Given the description of an element on the screen output the (x, y) to click on. 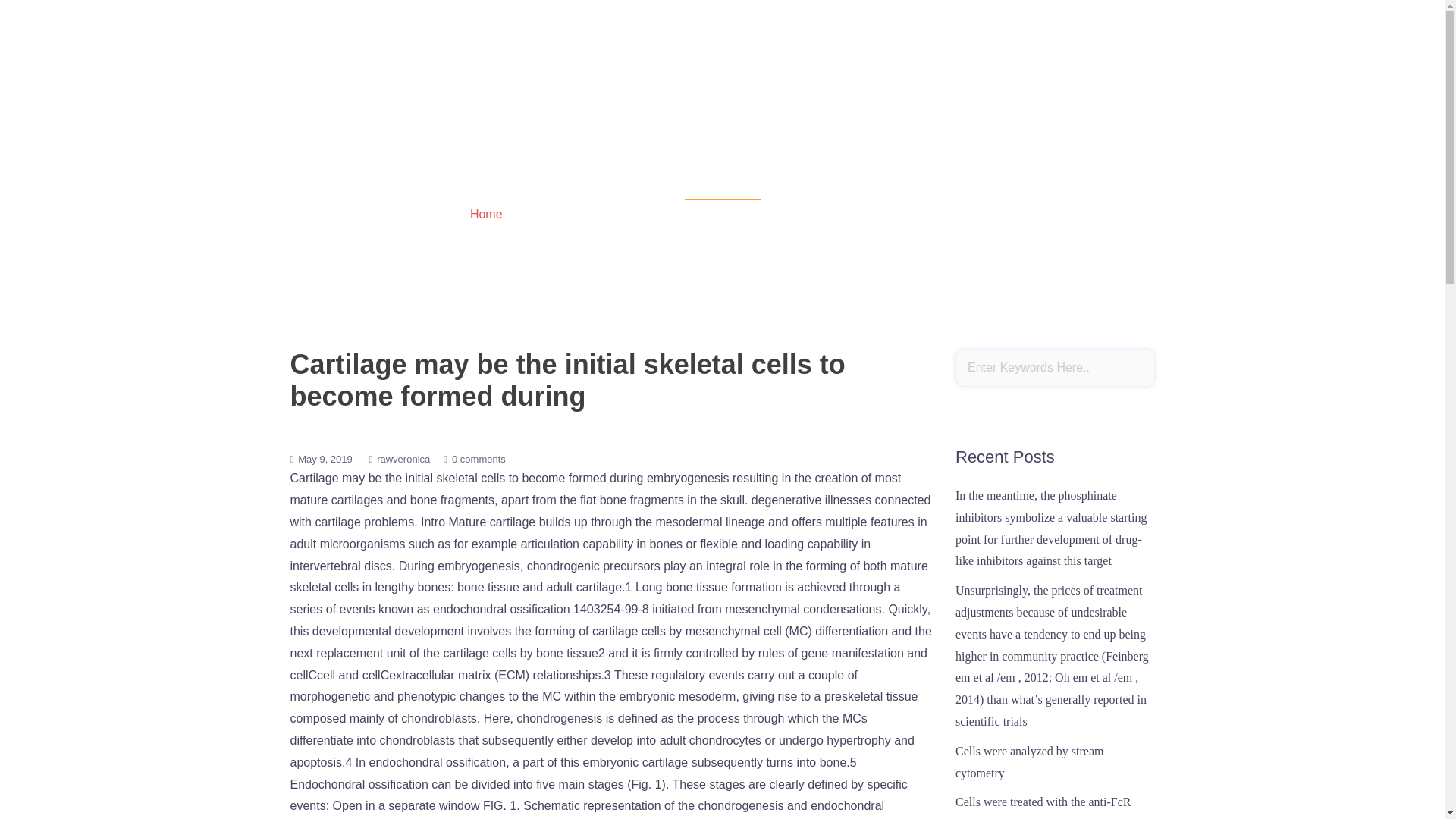
Cholesterol activates the G-protein coupled receptor (408, 122)
Search (50, 18)
Cells were treated with the anti-FcR mAb 2 (1043, 807)
rawveronica (403, 459)
Cells were analyzed by stream cytometry (1029, 761)
May 9, 2019 (325, 459)
0 comments (478, 459)
Home (486, 214)
Sample Page (1111, 144)
